Given the description of an element on the screen output the (x, y) to click on. 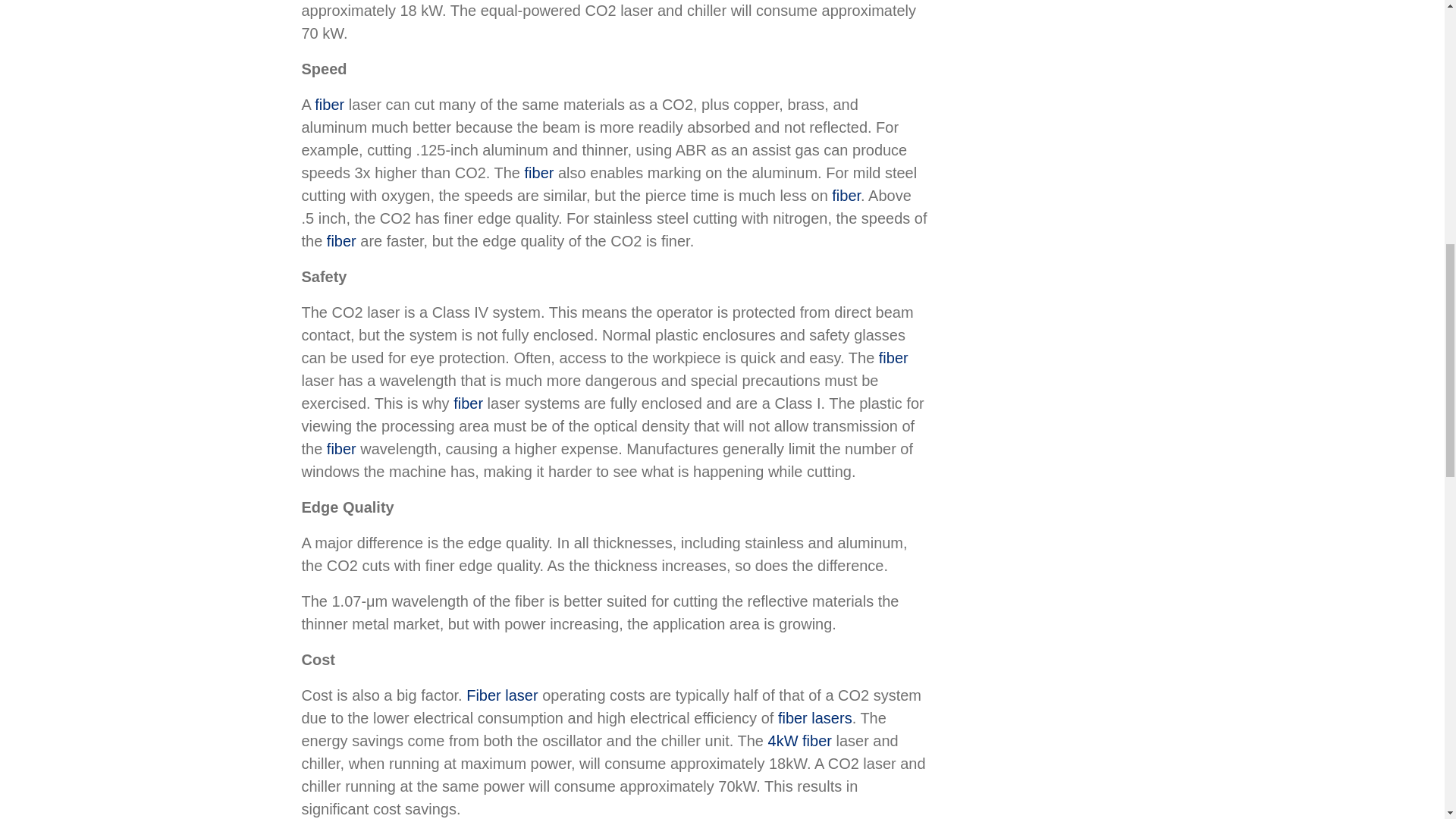
fiber (845, 195)
fiber (539, 172)
Fiber laser (501, 695)
4kW fiber (799, 740)
fiber (328, 104)
fiber (467, 402)
fiber (893, 357)
fiber lasers (814, 718)
fiber (341, 240)
fiber (341, 448)
